Given the description of an element on the screen output the (x, y) to click on. 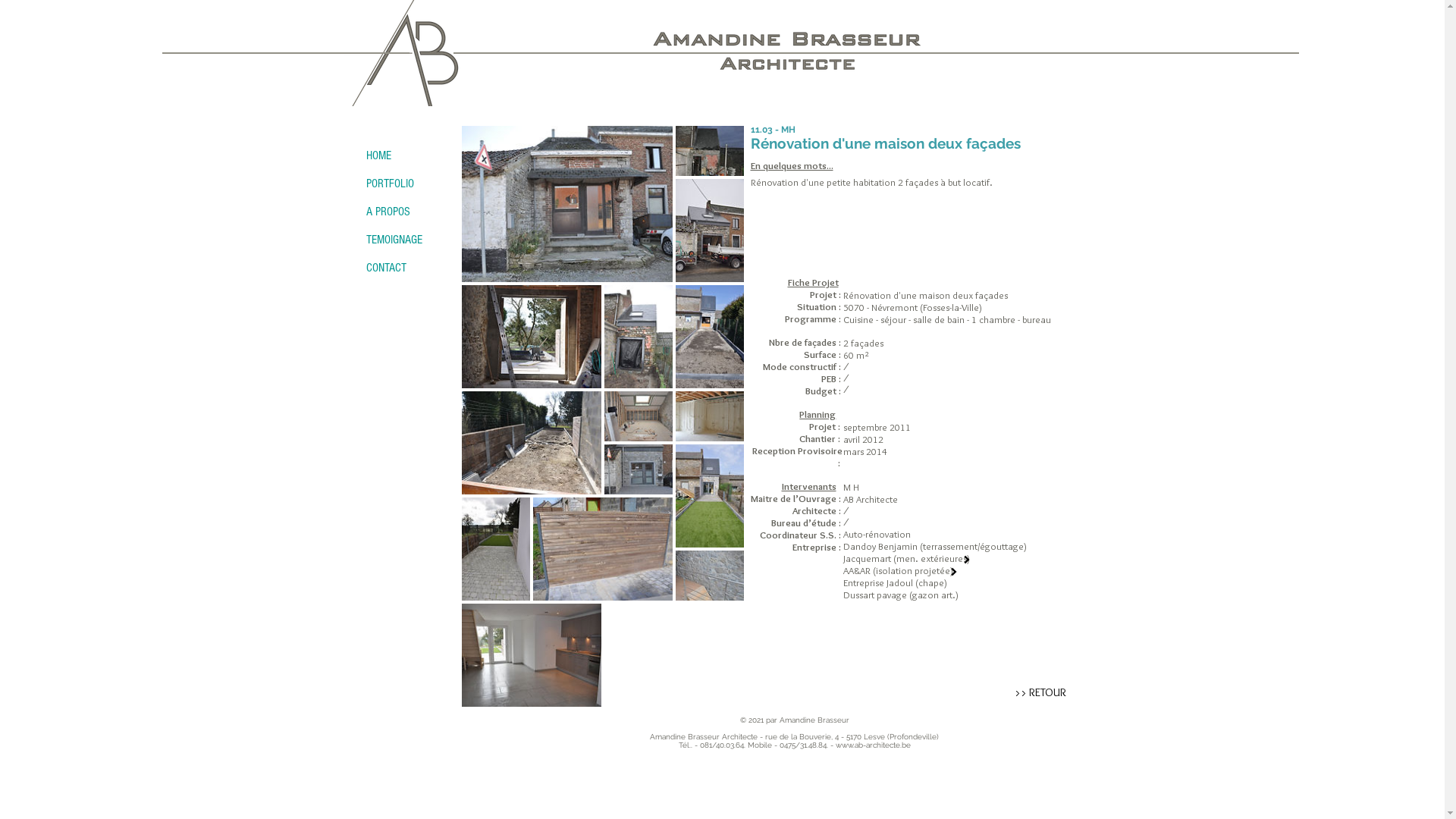
CONTACT Element type: text (406, 267)
brasseur_fond_blanc.png Element type: hover (794, 38)
A PROPOS Element type: text (406, 211)
HOME Element type: text (406, 155)
brasseur_fond_blanc.png Element type: hover (793, 64)
TEMOIGNAGE Element type: text (406, 239)
PORTFOLIO Element type: text (406, 183)
>> RETOUR Element type: text (1040, 692)
www.ab-architecte.be Element type: text (872, 744)
brasseur_fond_blanc.png Element type: hover (403, 53)
